Given the description of an element on the screen output the (x, y) to click on. 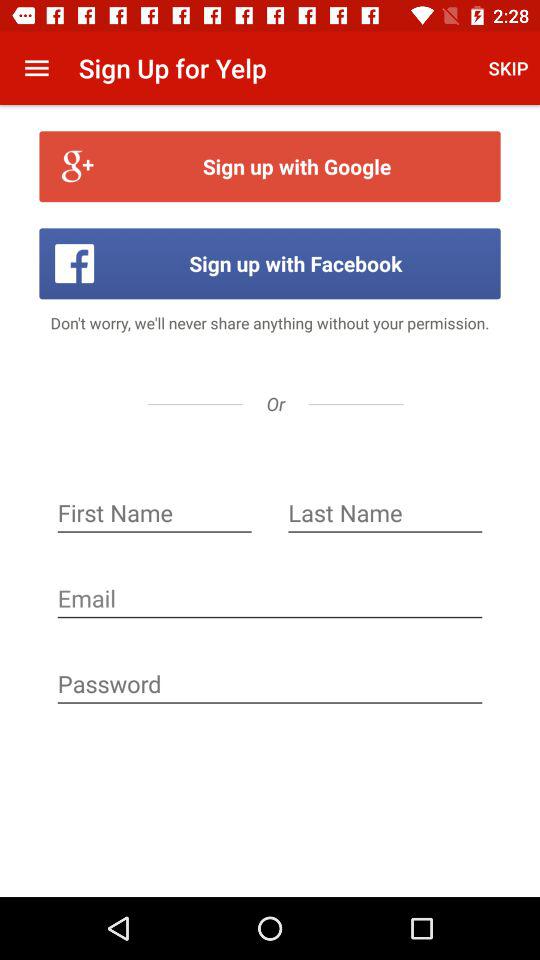
turn on app to the right of the sign up for app (508, 68)
